Given the description of an element on the screen output the (x, y) to click on. 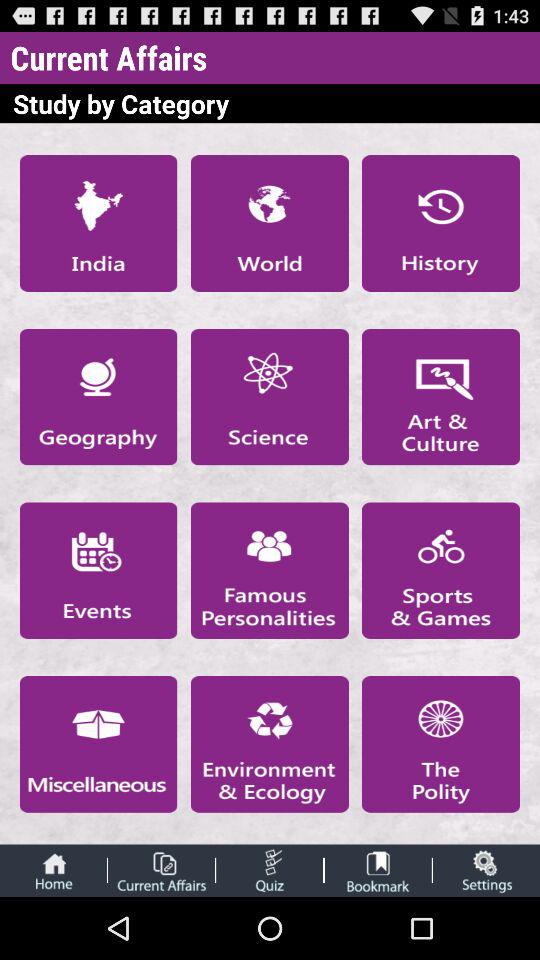
history of current affairs (441, 223)
